Given the description of an element on the screen output the (x, y) to click on. 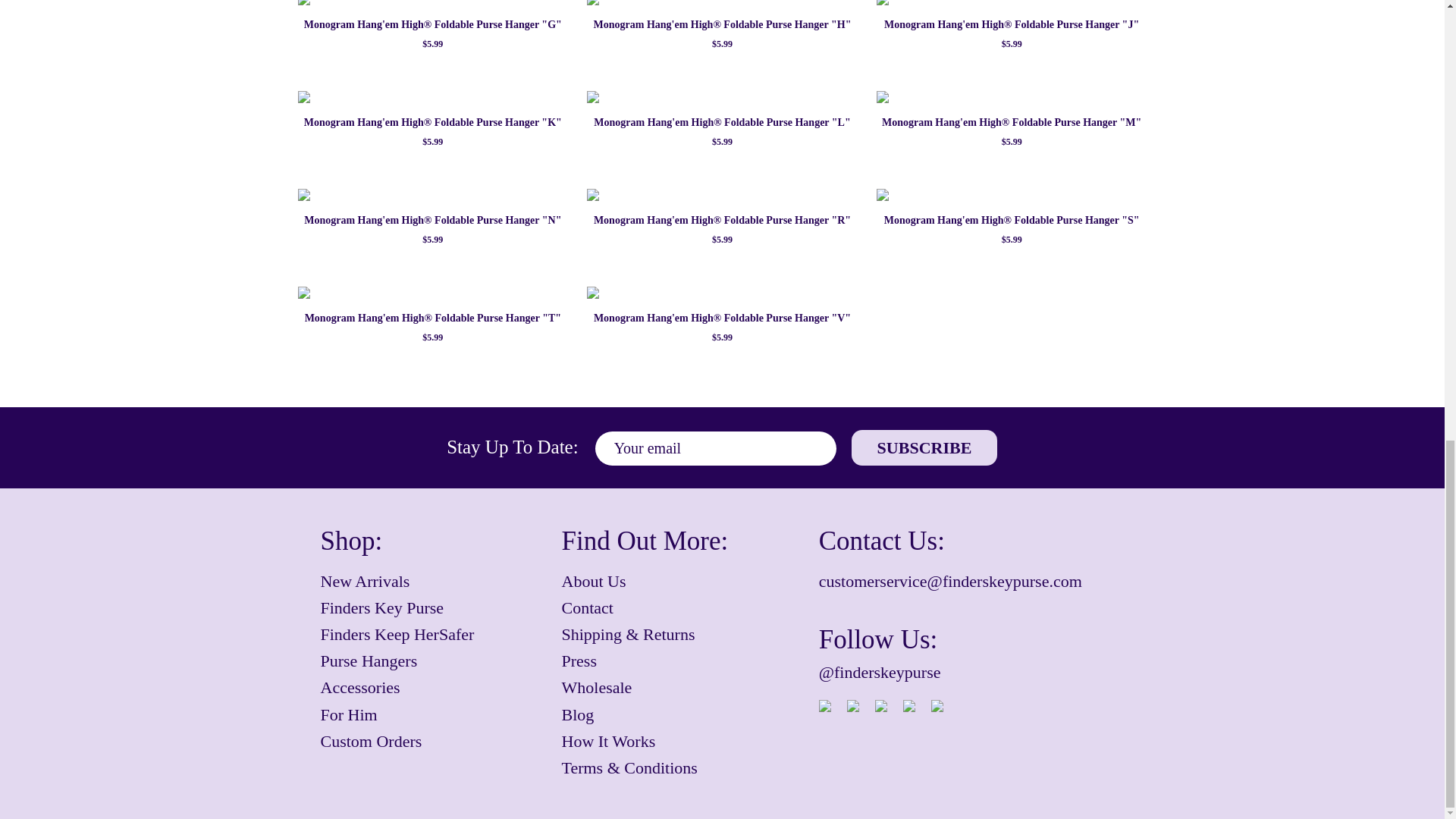
subscribe (923, 447)
